Given the description of an element on the screen output the (x, y) to click on. 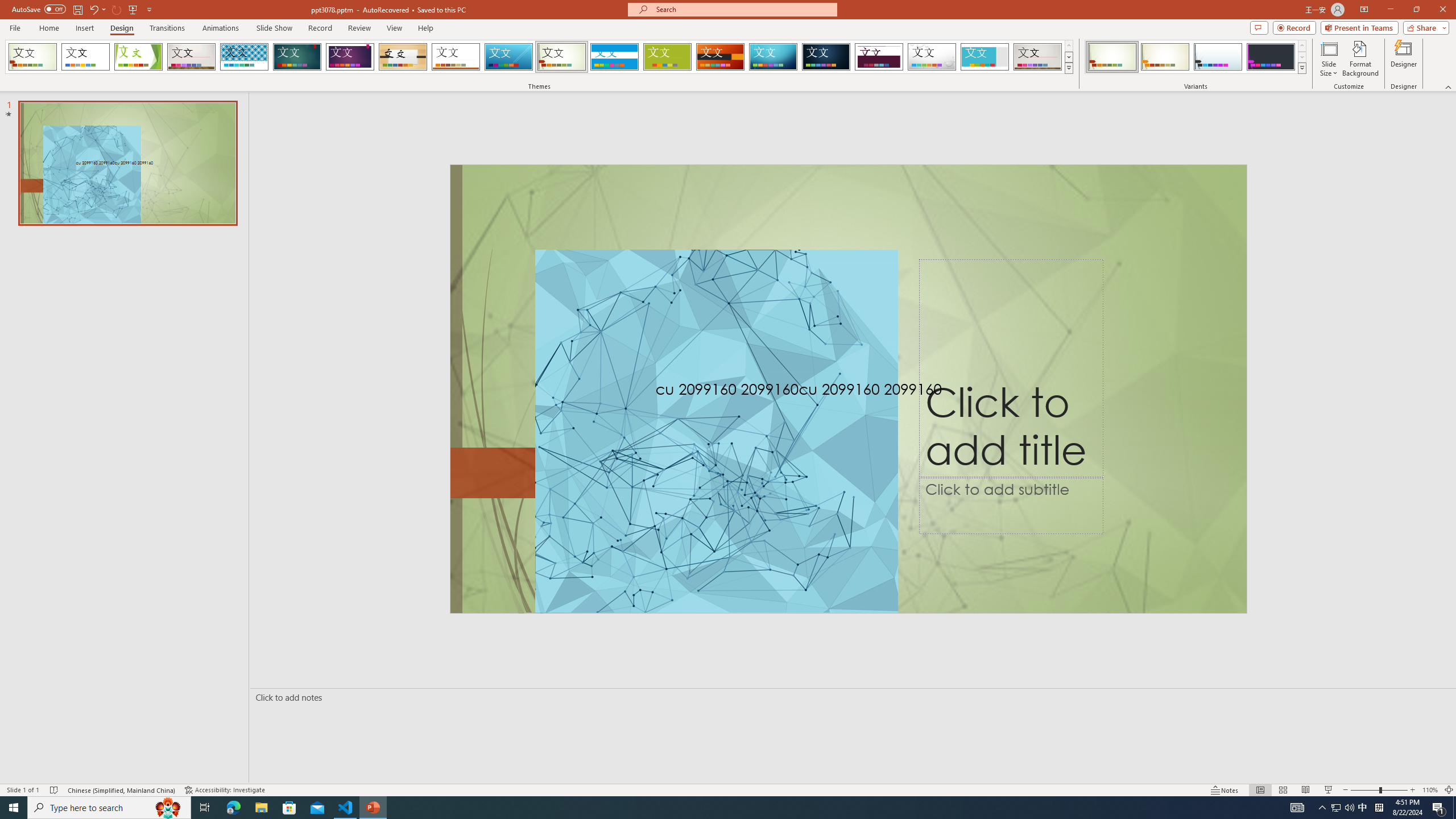
Organic (403, 56)
Ion (296, 56)
Frame (984, 56)
Variants (1301, 67)
Office Theme (85, 56)
Wisp Variant 3 (1217, 56)
Droplet (931, 56)
